Given the description of an element on the screen output the (x, y) to click on. 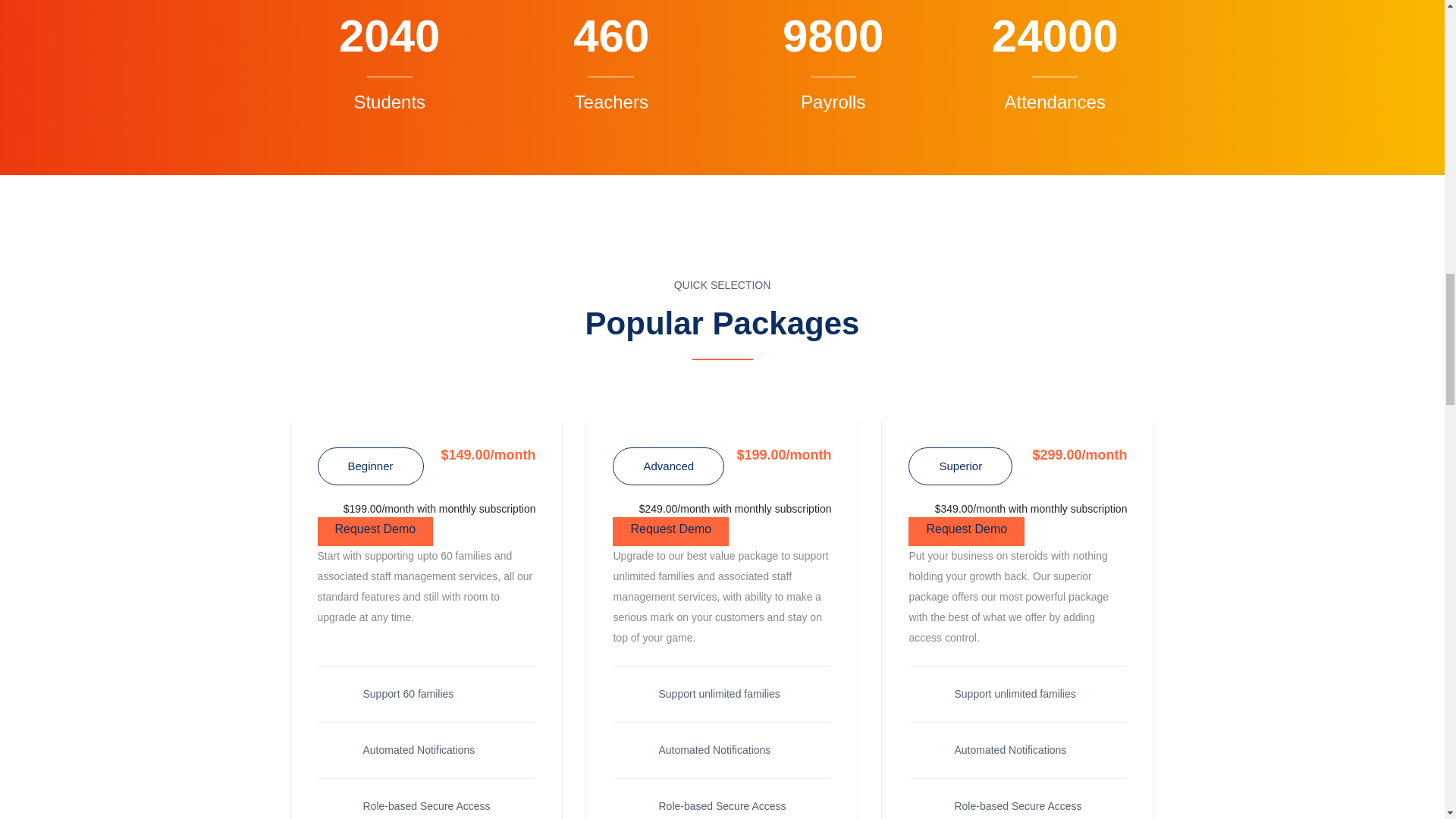
Request Demo (966, 531)
Advanced (667, 466)
Beginner (370, 466)
Superior (959, 466)
Request Demo (670, 531)
Request Demo (374, 531)
